Given the description of an element on the screen output the (x, y) to click on. 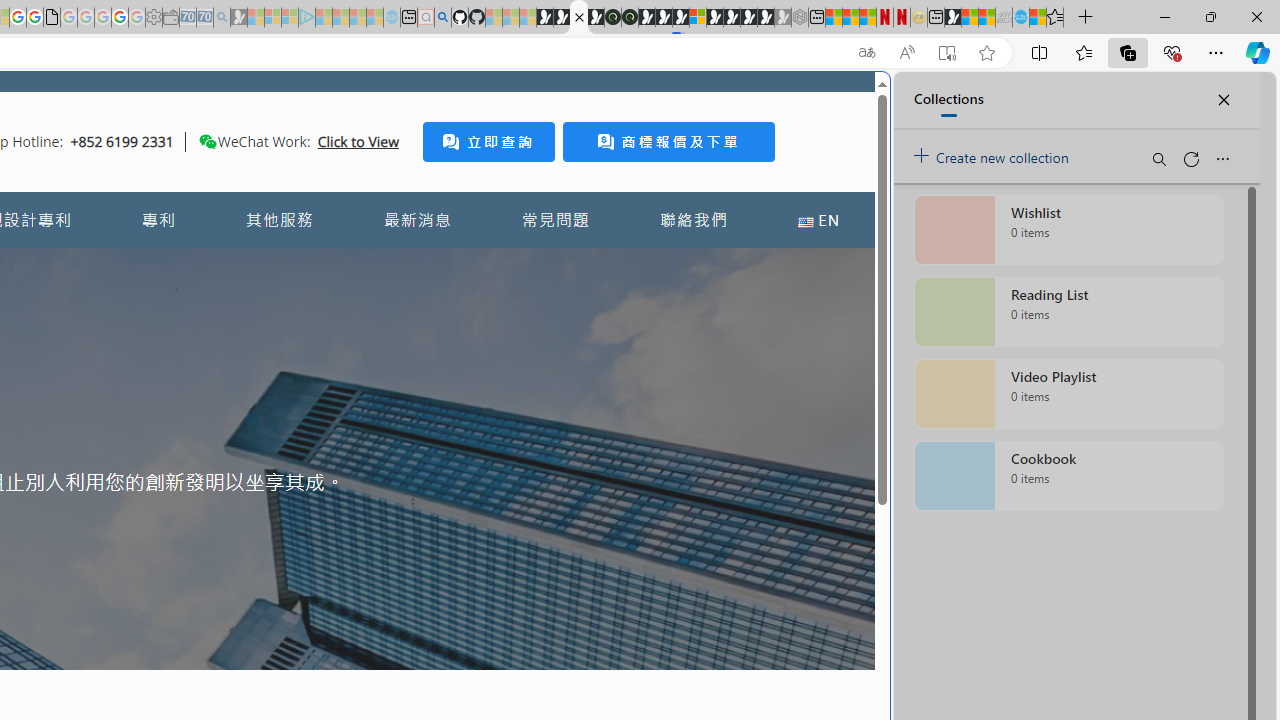
Close split screen (844, 102)
